Given the description of an element on the screen output the (x, y) to click on. 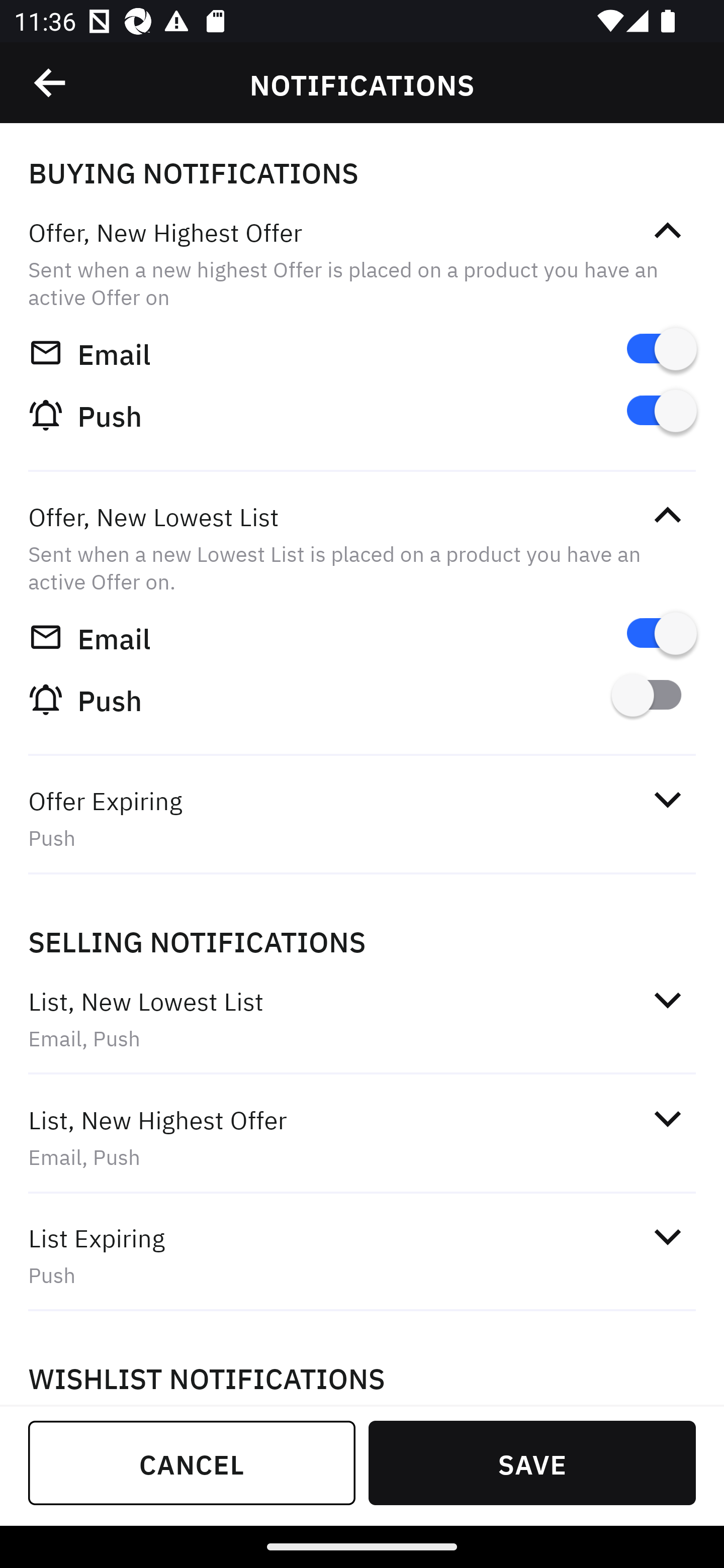
 (50, 83)
 (667, 231)
 (667, 514)
Offer Expiring  Push (361, 818)
 (667, 799)
List, New Lowest List  Email, Push (361, 1018)
 (667, 999)
List, New Highest Offer  Email, Push (361, 1137)
 (667, 1118)
List Expiring  Push (361, 1254)
 (667, 1236)
CANCEL (191, 1462)
SAVE (531, 1462)
